Given the description of an element on the screen output the (x, y) to click on. 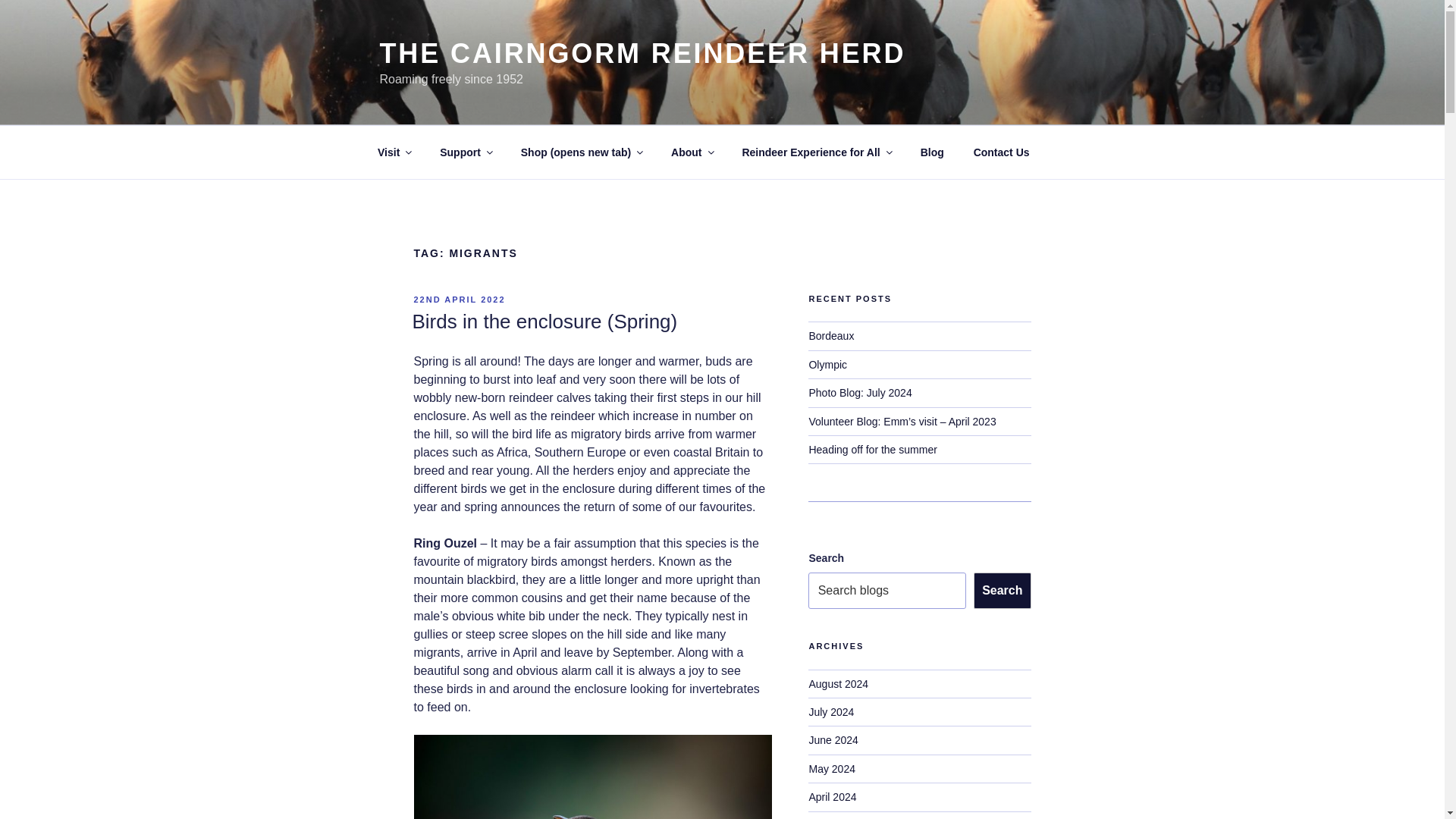
Blog (931, 151)
Support (465, 151)
About (691, 151)
THE CAIRNGORM REINDEER HERD (641, 52)
Reindeer Experience for All (816, 151)
Visit (393, 151)
